Given the description of an element on the screen output the (x, y) to click on. 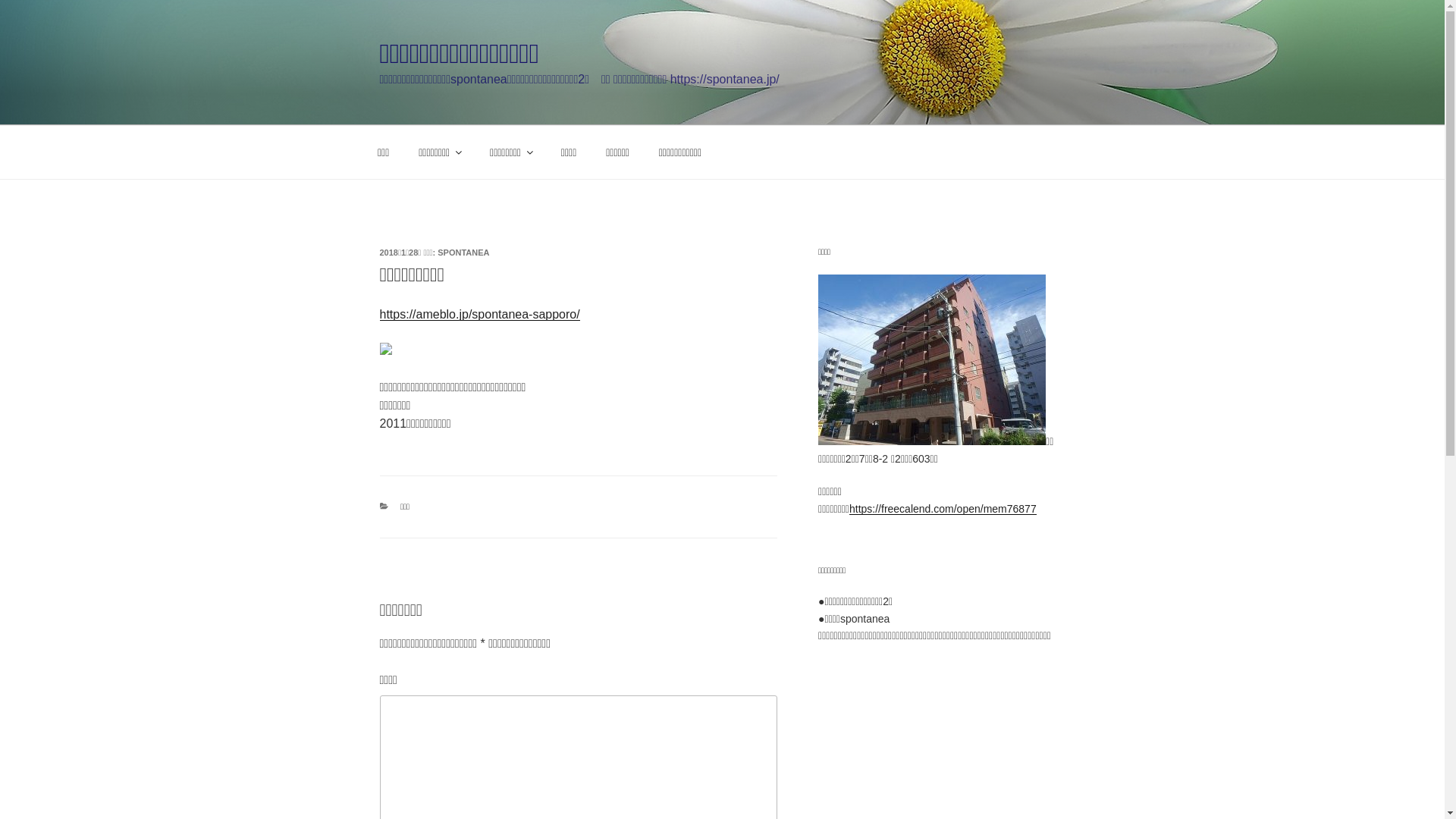
https://ameblo.jp/spontanea-sapporo/ Element type: text (479, 313)
https://freecalend.com/open/mem76877 Element type: text (942, 508)
SPONTANEA Element type: text (463, 252)
